Given the description of an element on the screen output the (x, y) to click on. 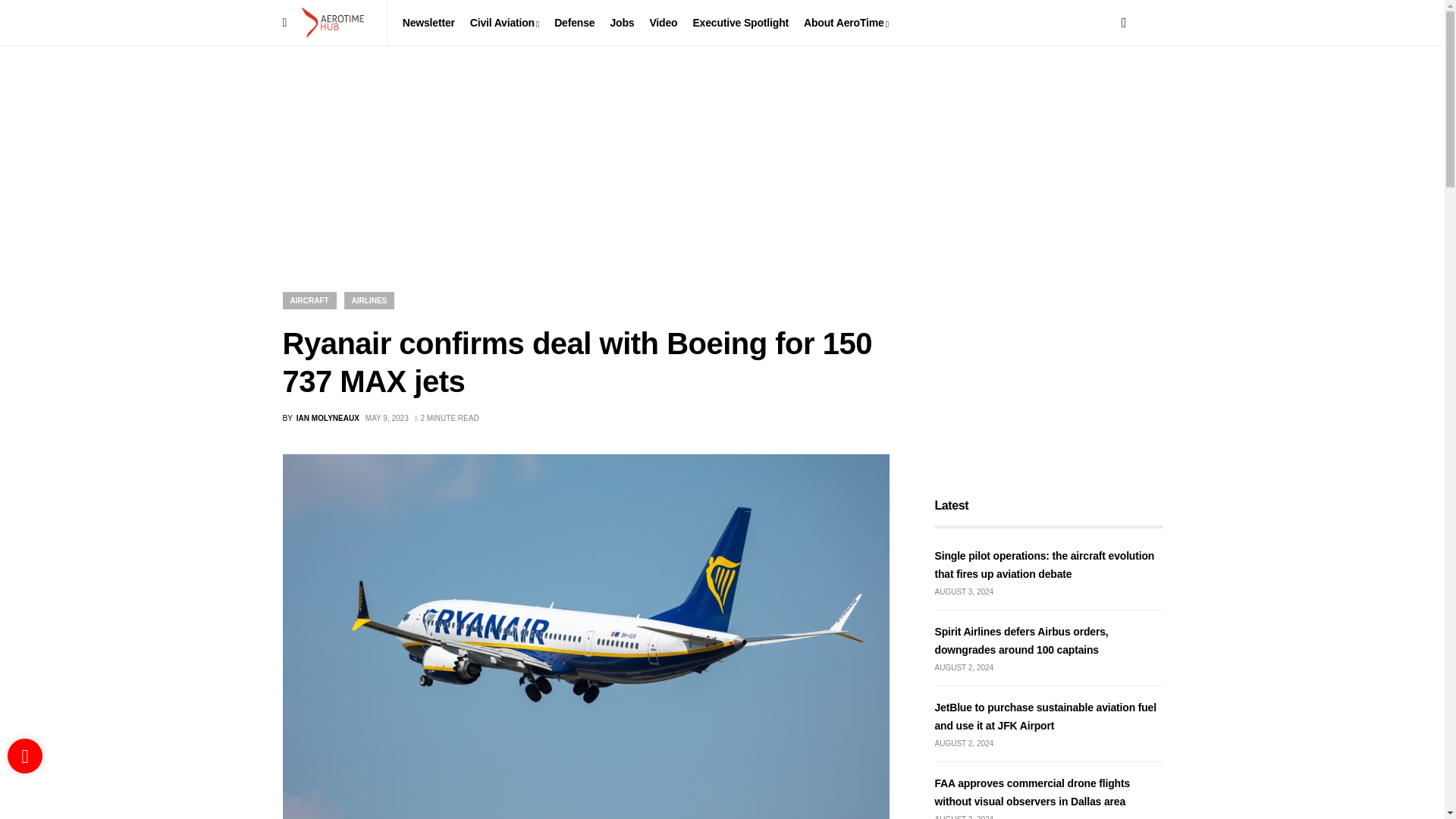
Newsletter (428, 22)
Civil Aviation (504, 22)
View all posts by Ian Molyneaux (320, 418)
